Given the description of an element on the screen output the (x, y) to click on. 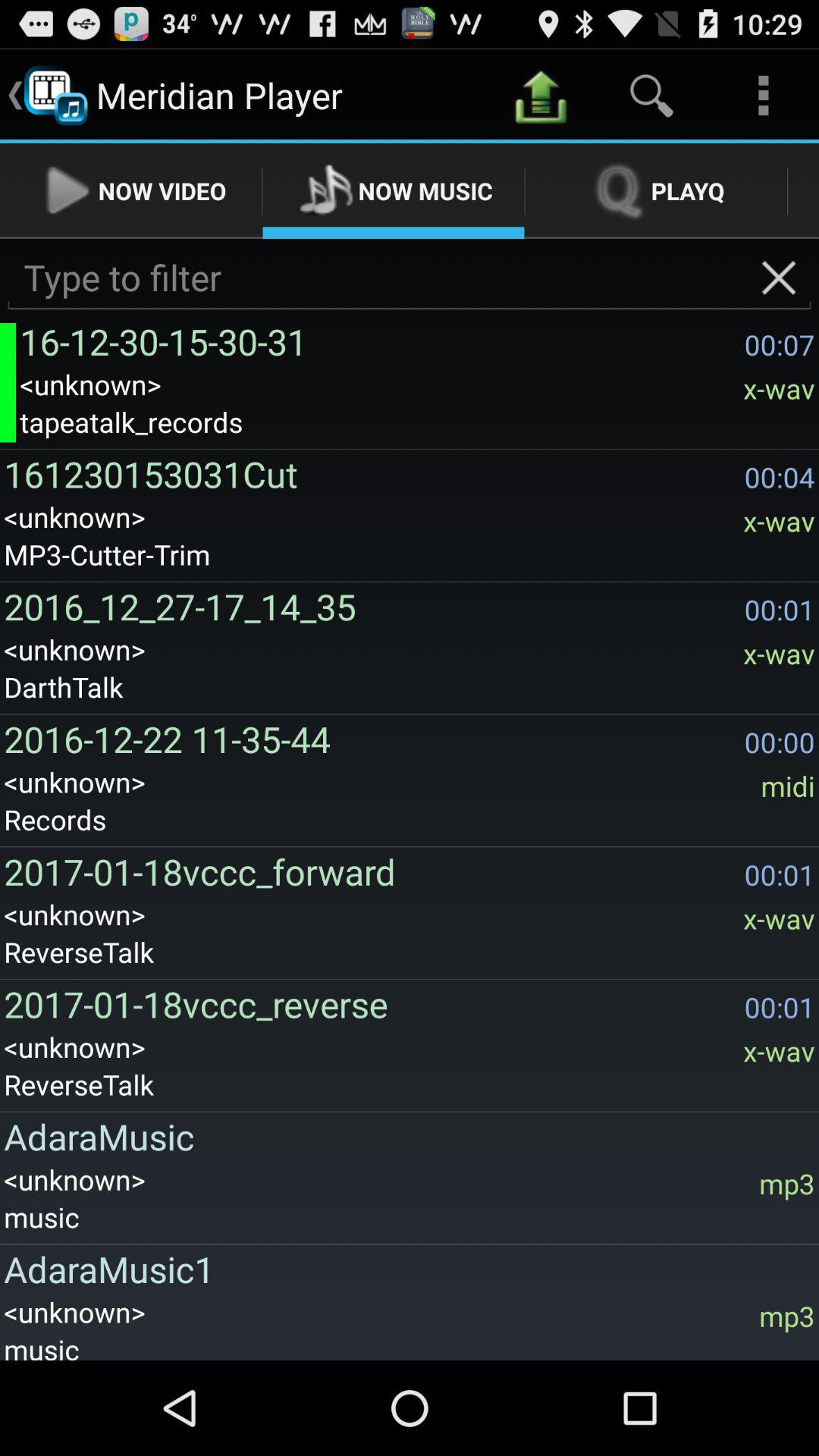
turn off icon below reversetalk icon (405, 1136)
